Given the description of an element on the screen output the (x, y) to click on. 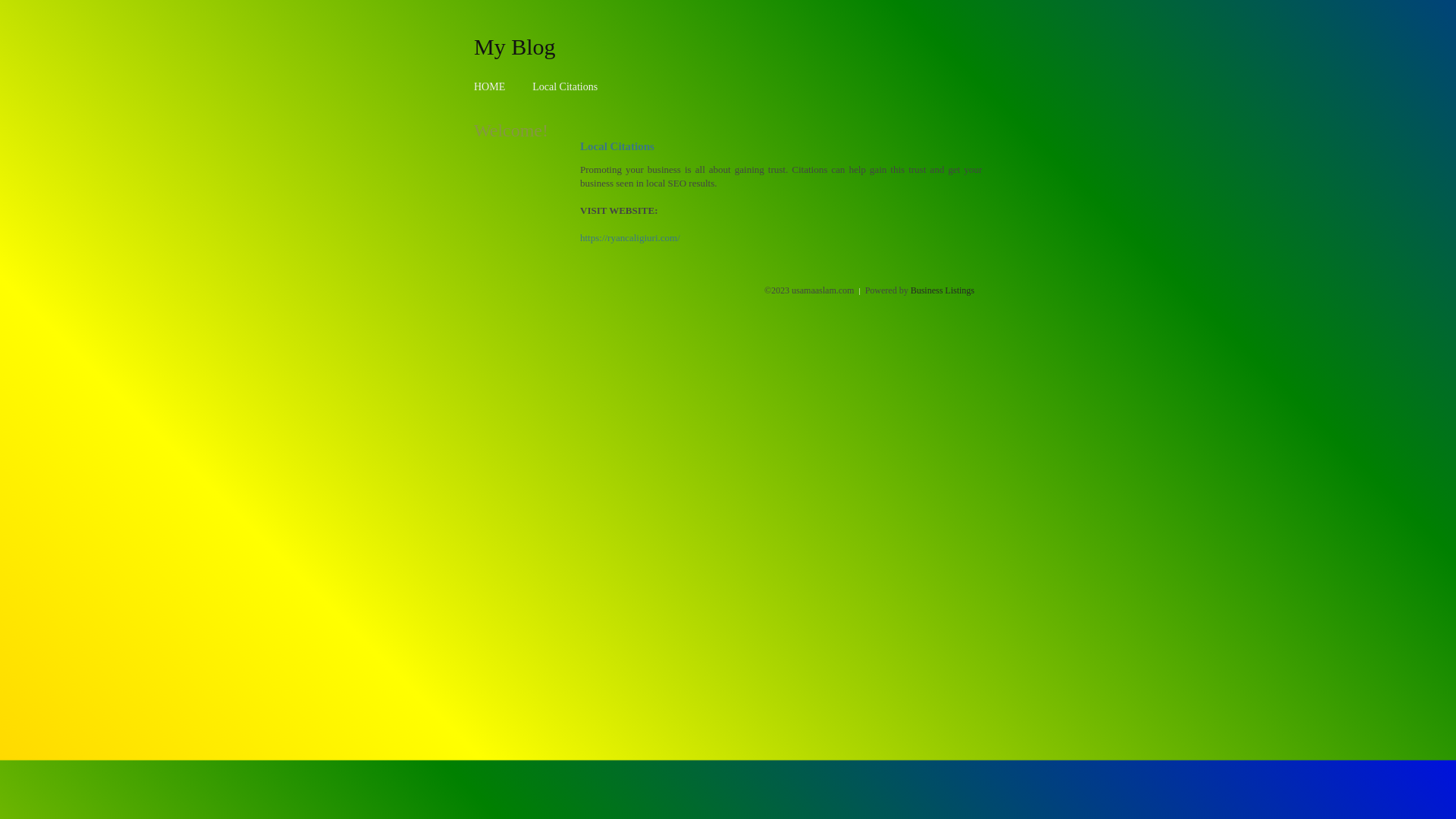
https://ryancaligiuri.com/ Element type: text (630, 237)
Business Listings Element type: text (942, 290)
Local Citations Element type: text (564, 86)
My Blog Element type: text (514, 46)
HOME Element type: text (489, 86)
